Given the description of an element on the screen output the (x, y) to click on. 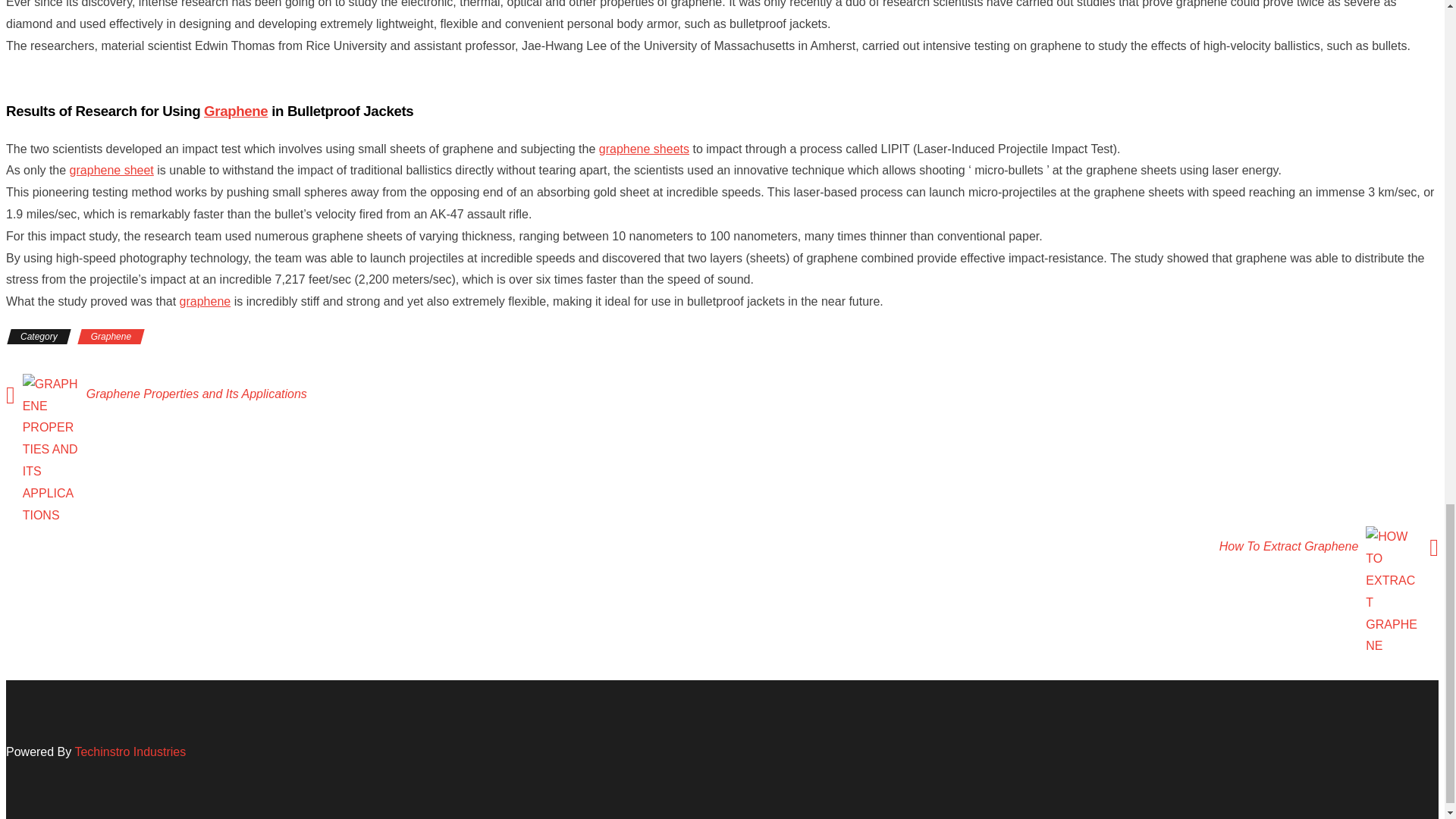
How To Extract Graphene (1284, 546)
Graphene (235, 110)
Graphene Properties and Its Applications (199, 394)
graphene (205, 300)
graphene sheet (111, 169)
Graphene (111, 336)
Techinstro Industries (130, 751)
graphene sheets (643, 148)
